Given the description of an element on the screen output the (x, y) to click on. 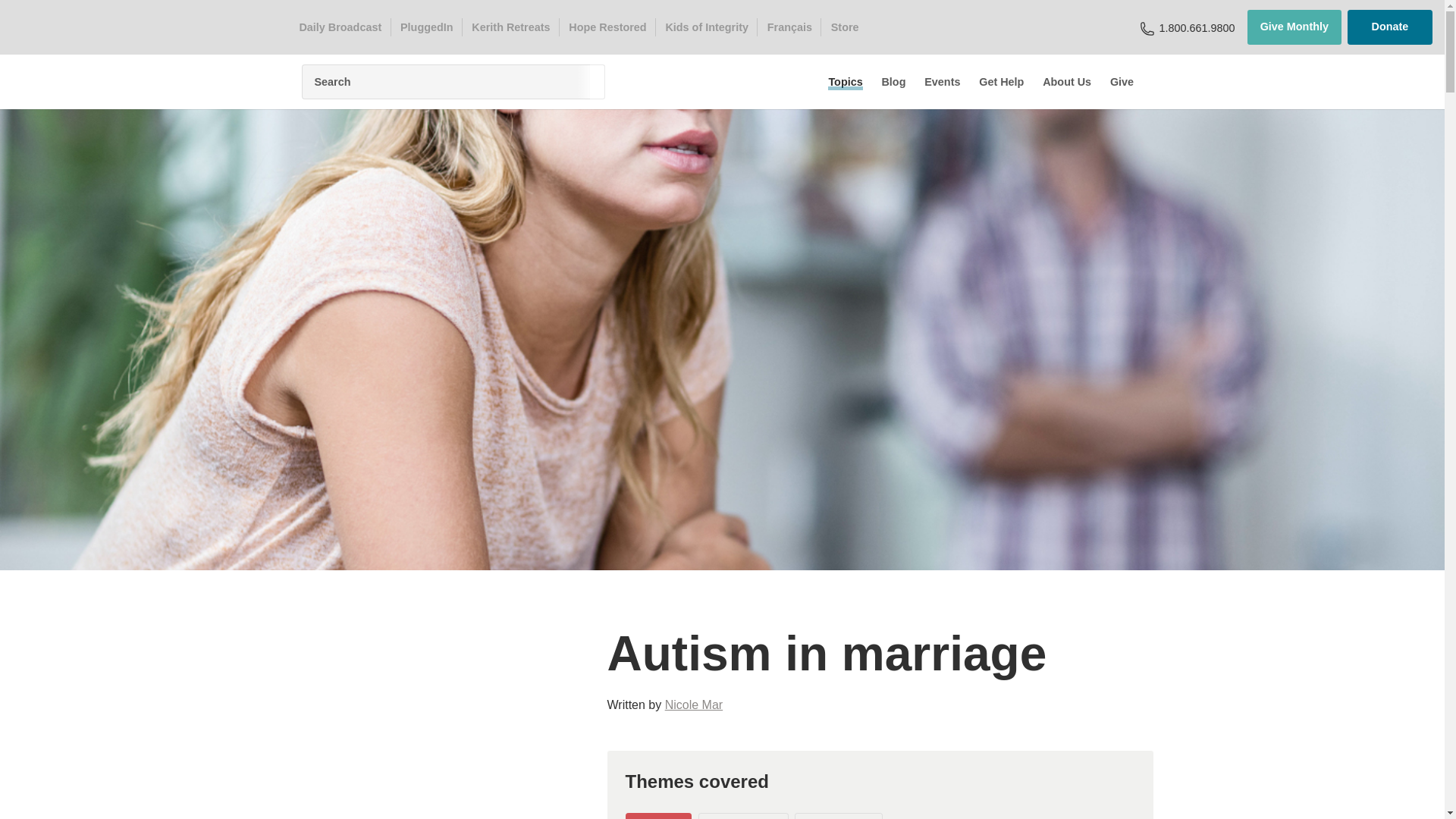
Kerith Retreats (511, 27)
Daily Broadcast (340, 27)
About Us (1066, 81)
Give Monthly (1293, 27)
Hope Restored (608, 27)
PluggedIn (426, 27)
Kids of Integrity (707, 27)
Store (844, 27)
1.800.661.9800 (1196, 27)
Donate (1390, 27)
Get Help (1001, 81)
